Given the description of an element on the screen output the (x, y) to click on. 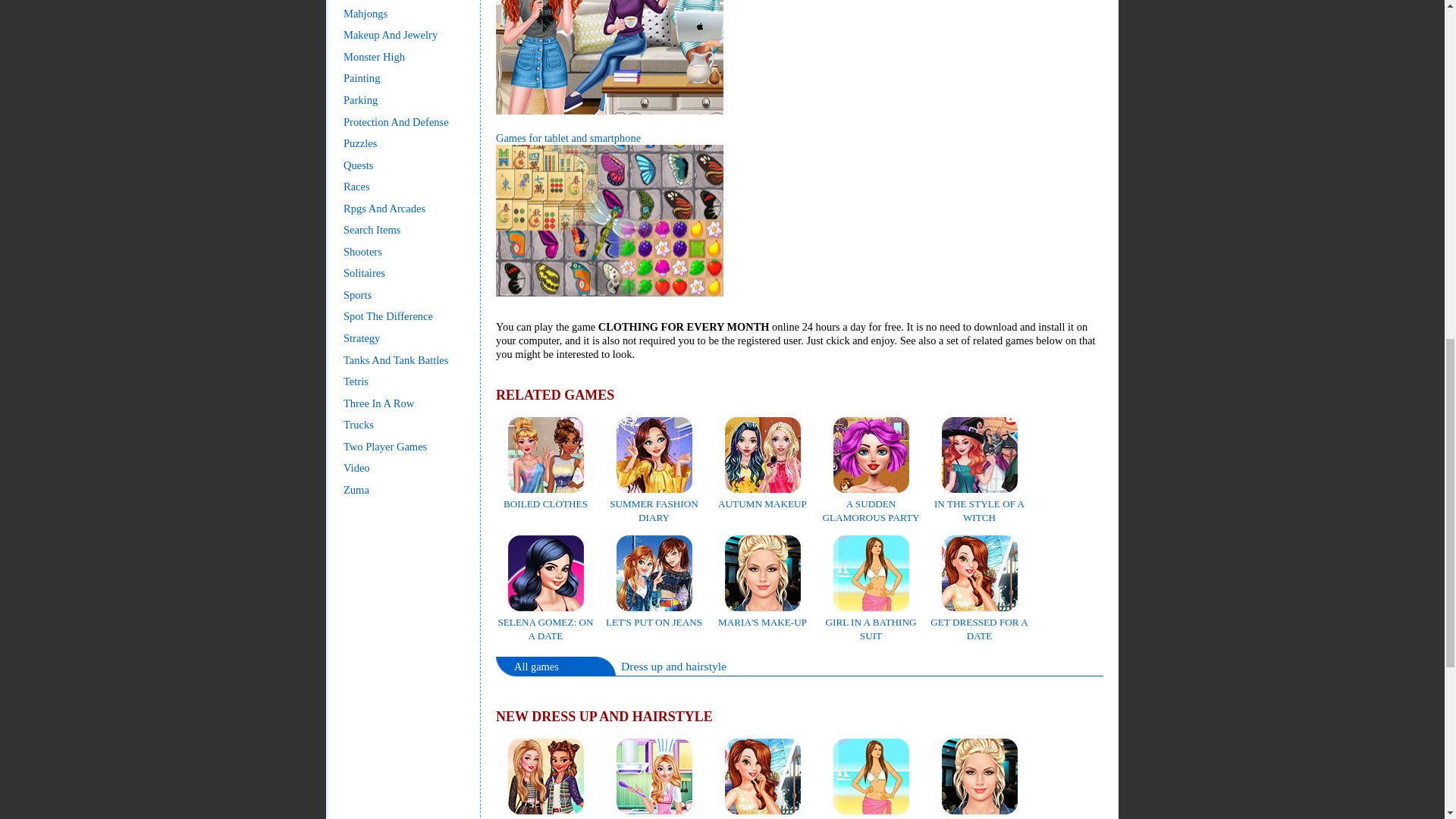
LET'S PUT ON JEANS (653, 615)
AUTUMN MAKEUP (761, 496)
GET DRESSED FOR A DATE (978, 621)
GET DRESSED FOR A DATE (761, 812)
MARIA'S MAKE-UP (978, 812)
AUTUMN MAKEUP (761, 496)
All Dress up and hairstyle (673, 666)
MARIA'S MAKE-UP (761, 615)
BOILED CLOTHES (545, 496)
SUMMER FASHION DIARY (654, 503)
